Given the description of an element on the screen output the (x, y) to click on. 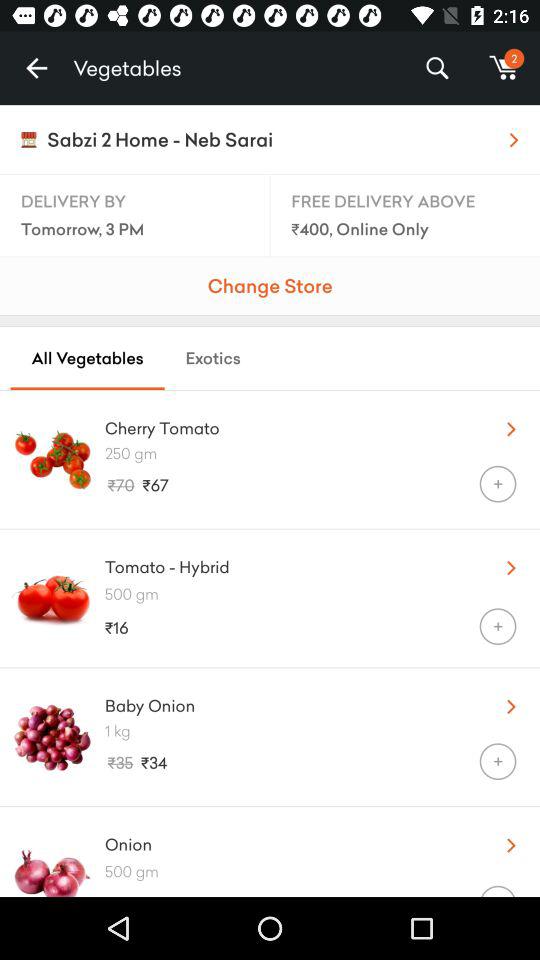
open the item next to m icon (436, 67)
